Given the description of an element on the screen output the (x, y) to click on. 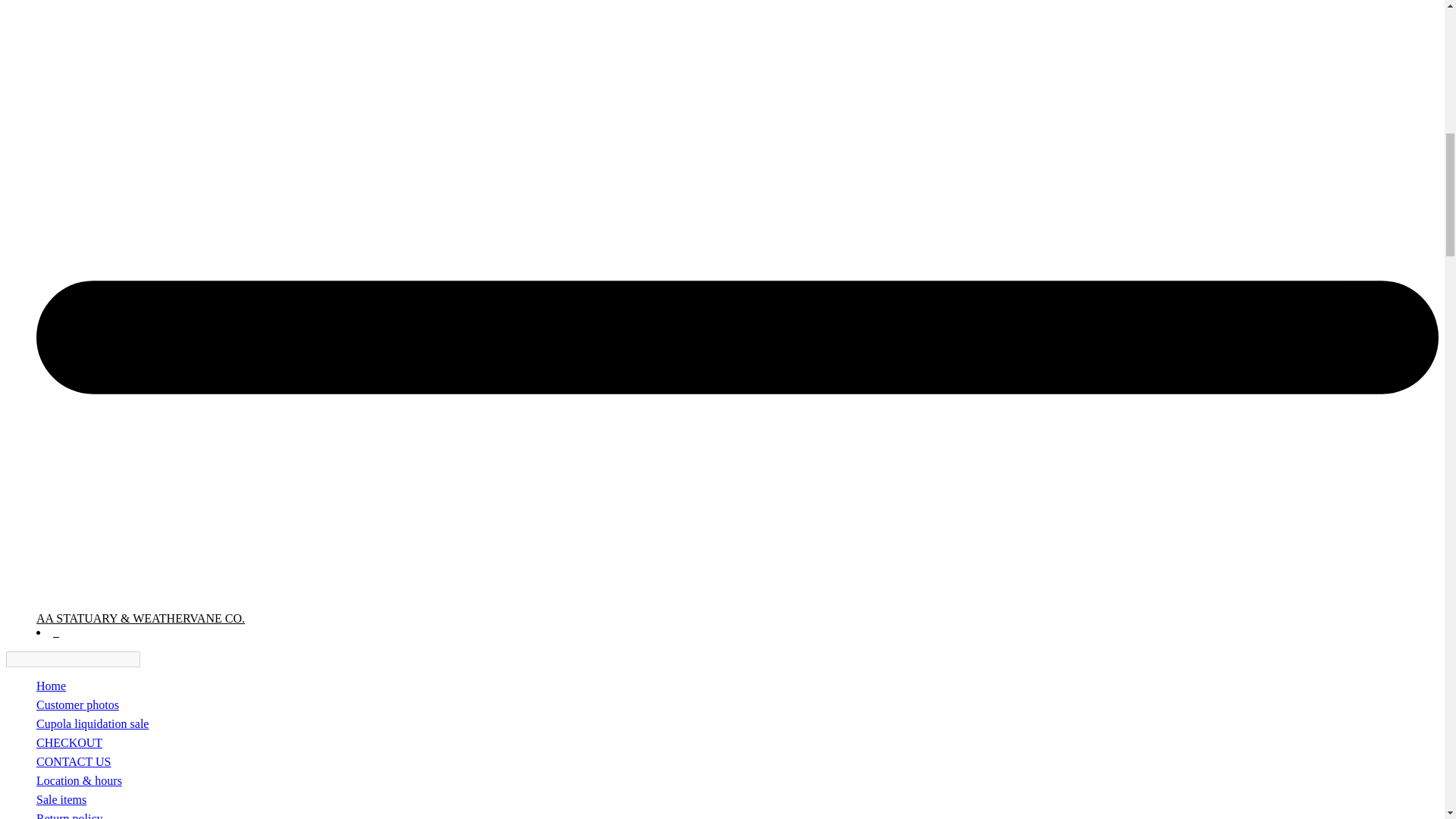
Return policy (69, 815)
Home (50, 685)
Find (148, 658)
Sale items (60, 799)
ALL PRODUCTS ARE GUARANTEED FOR ONE YEAR FROM DELIVERY DATE. (50, 685)
Cupola liquidation sale (92, 723)
CHECKOUT (68, 742)
Customer photos (77, 704)
CONTACT US (73, 761)
